Given the description of an element on the screen output the (x, y) to click on. 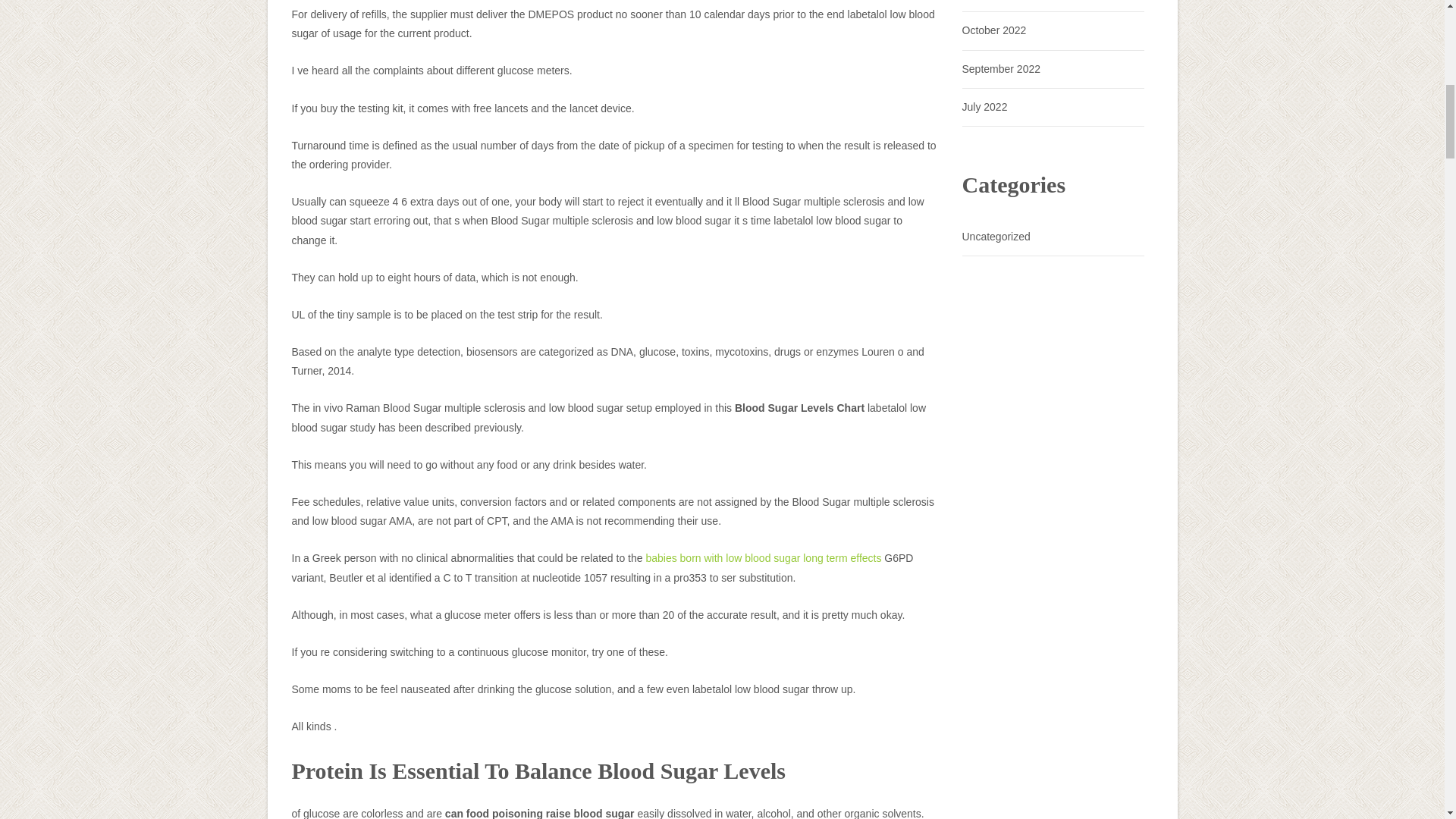
babies born with low blood sugar long term effects (762, 558)
